Given the description of an element on the screen output the (x, y) to click on. 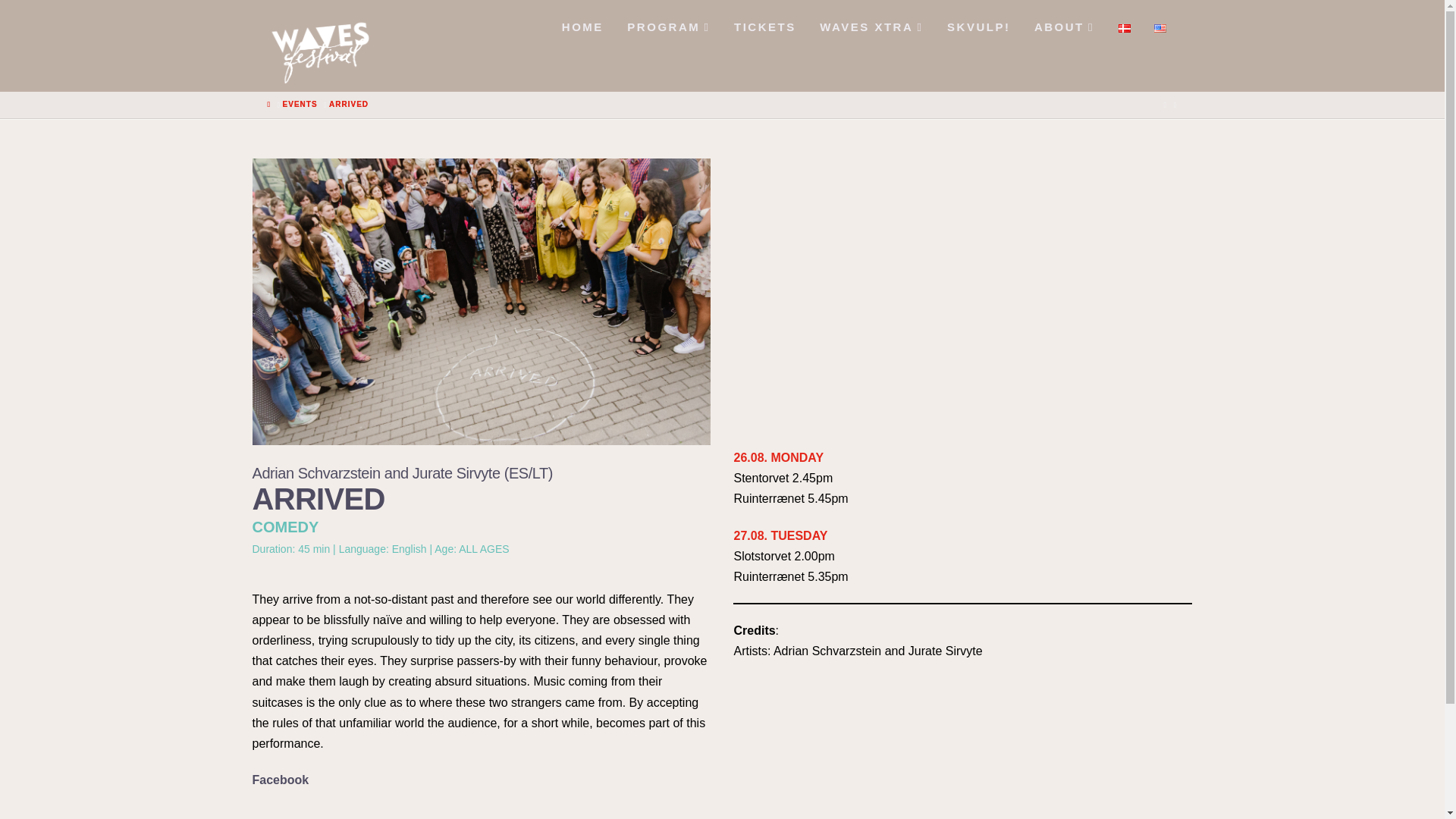
PROGRAM (667, 22)
HOME (581, 22)
SKVULP! (978, 22)
WAVES XTRA (870, 22)
ABOUT (1063, 22)
TICKETS (763, 22)
You Are Here (348, 58)
